Given the description of an element on the screen output the (x, y) to click on. 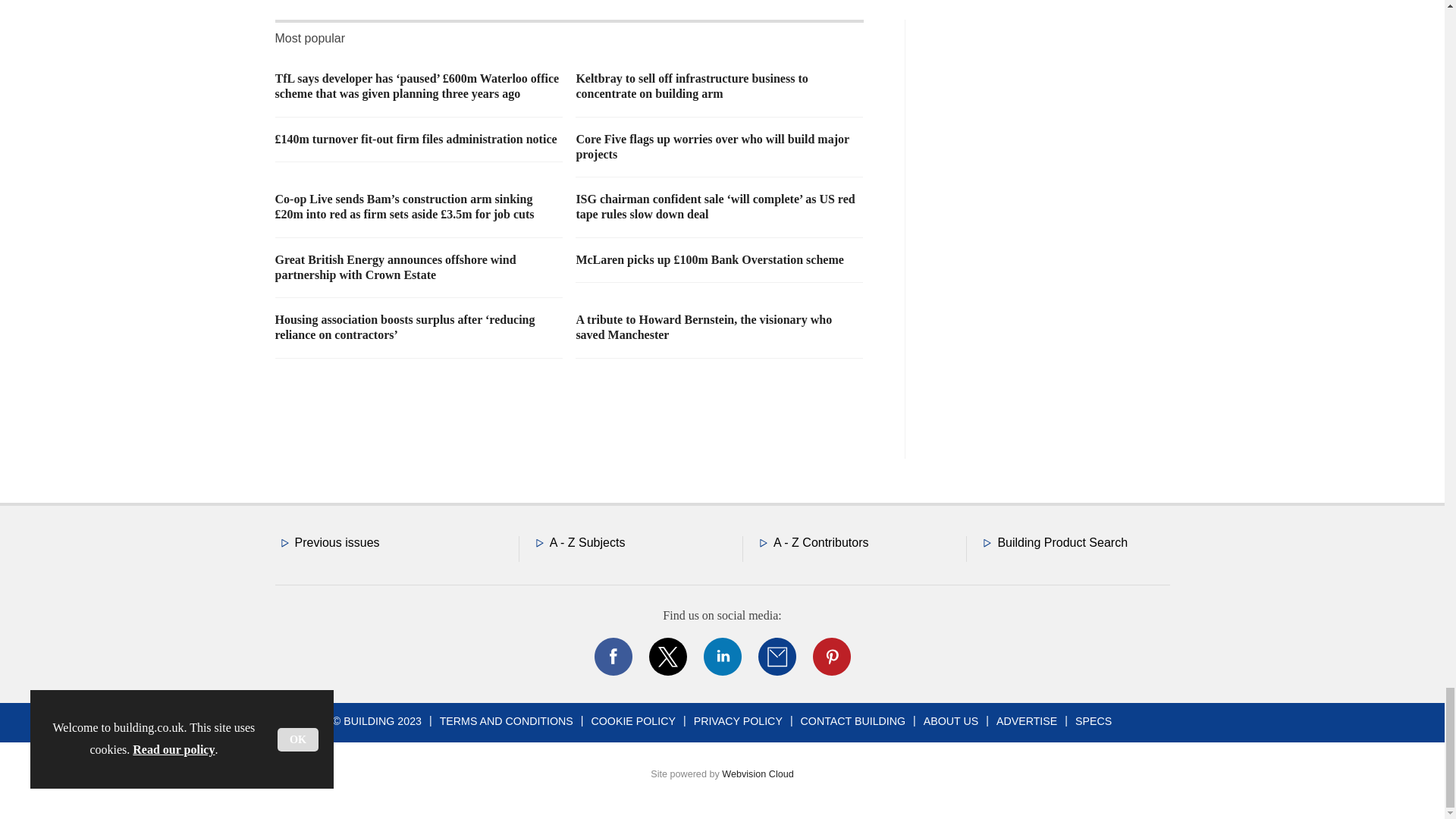
Connect with us on Linked in (721, 656)
Connect with us on Twitter (667, 656)
Email us (776, 656)
Connect with us on Facebook (611, 656)
Connect with us on Pinterest (830, 656)
